Given the description of an element on the screen output the (x, y) to click on. 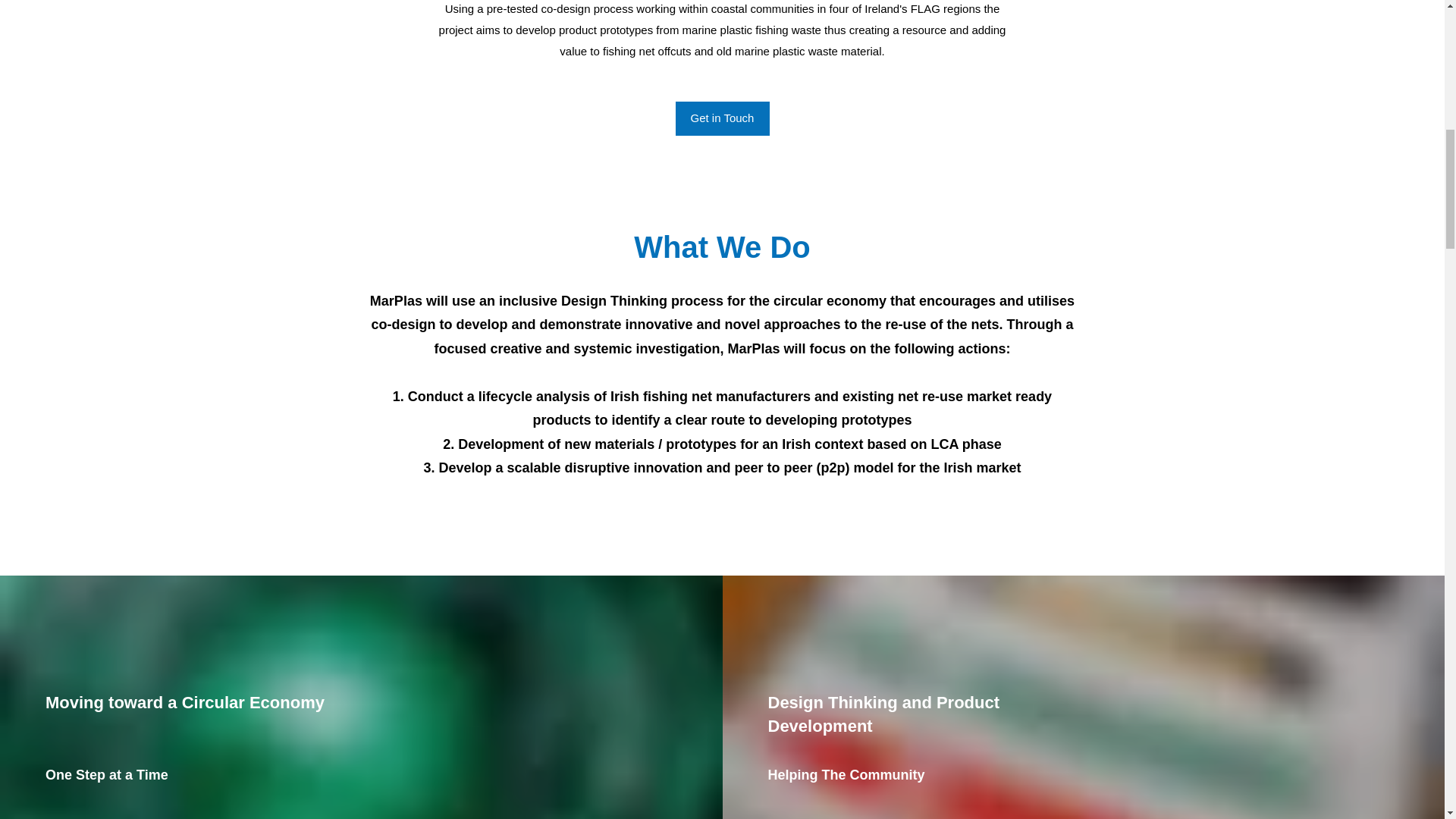
Get in Touch (721, 118)
